Given the description of an element on the screen output the (x, y) to click on. 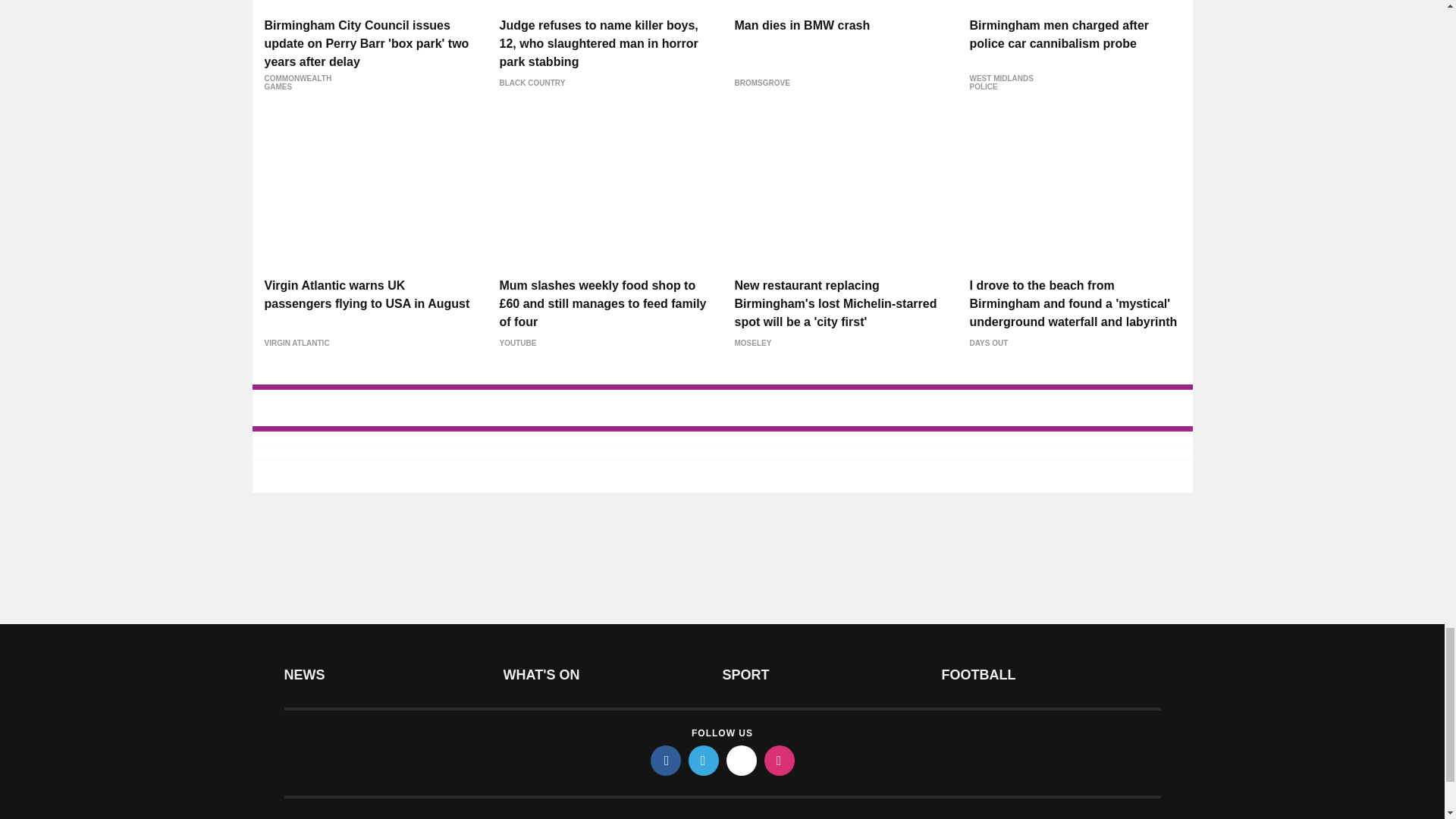
instagram (779, 760)
tiktok (741, 760)
twitter (703, 760)
facebook (665, 760)
